Given the description of an element on the screen output the (x, y) to click on. 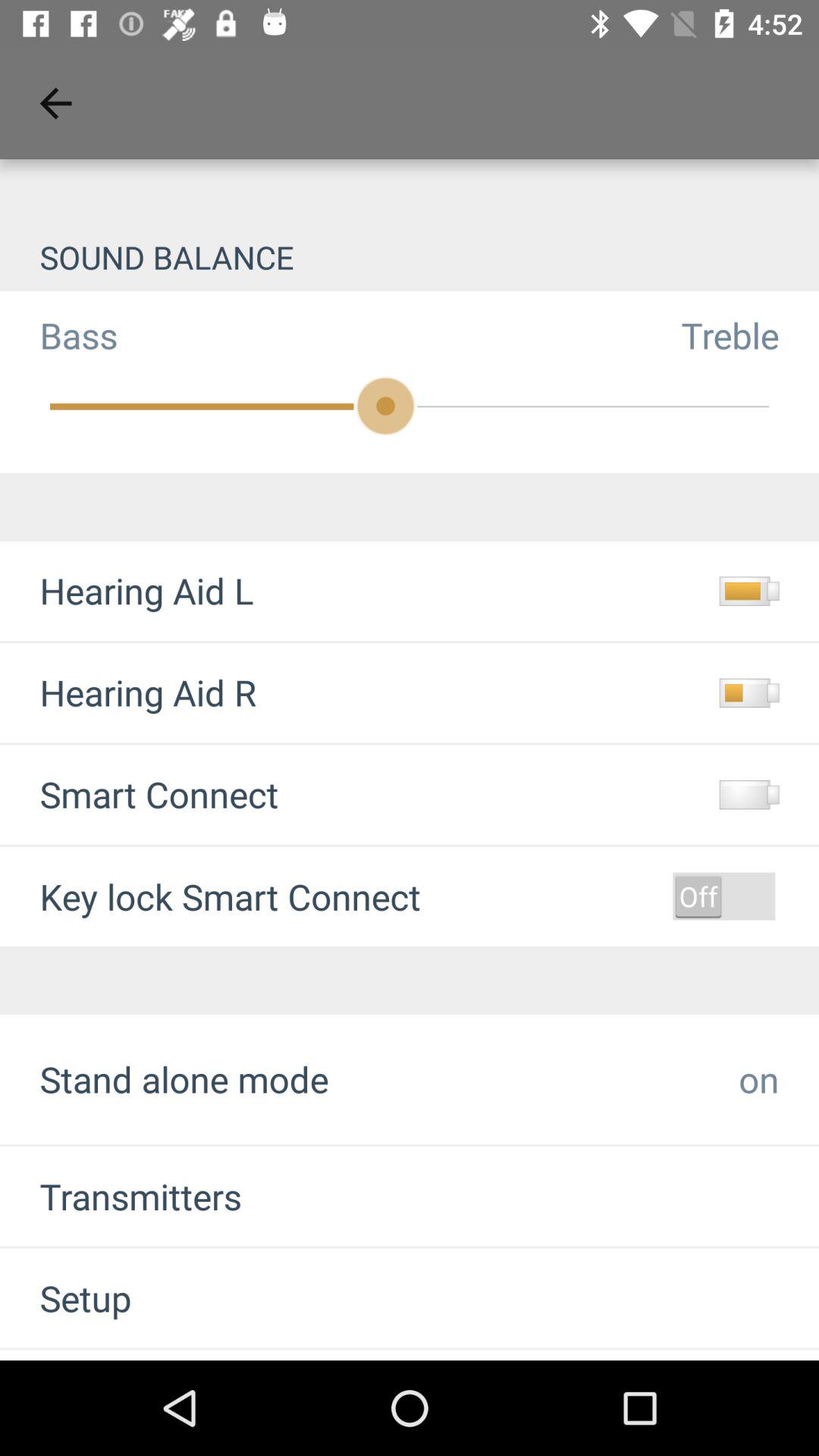
jump to stand alone mode (183, 1078)
